Given the description of an element on the screen output the (x, y) to click on. 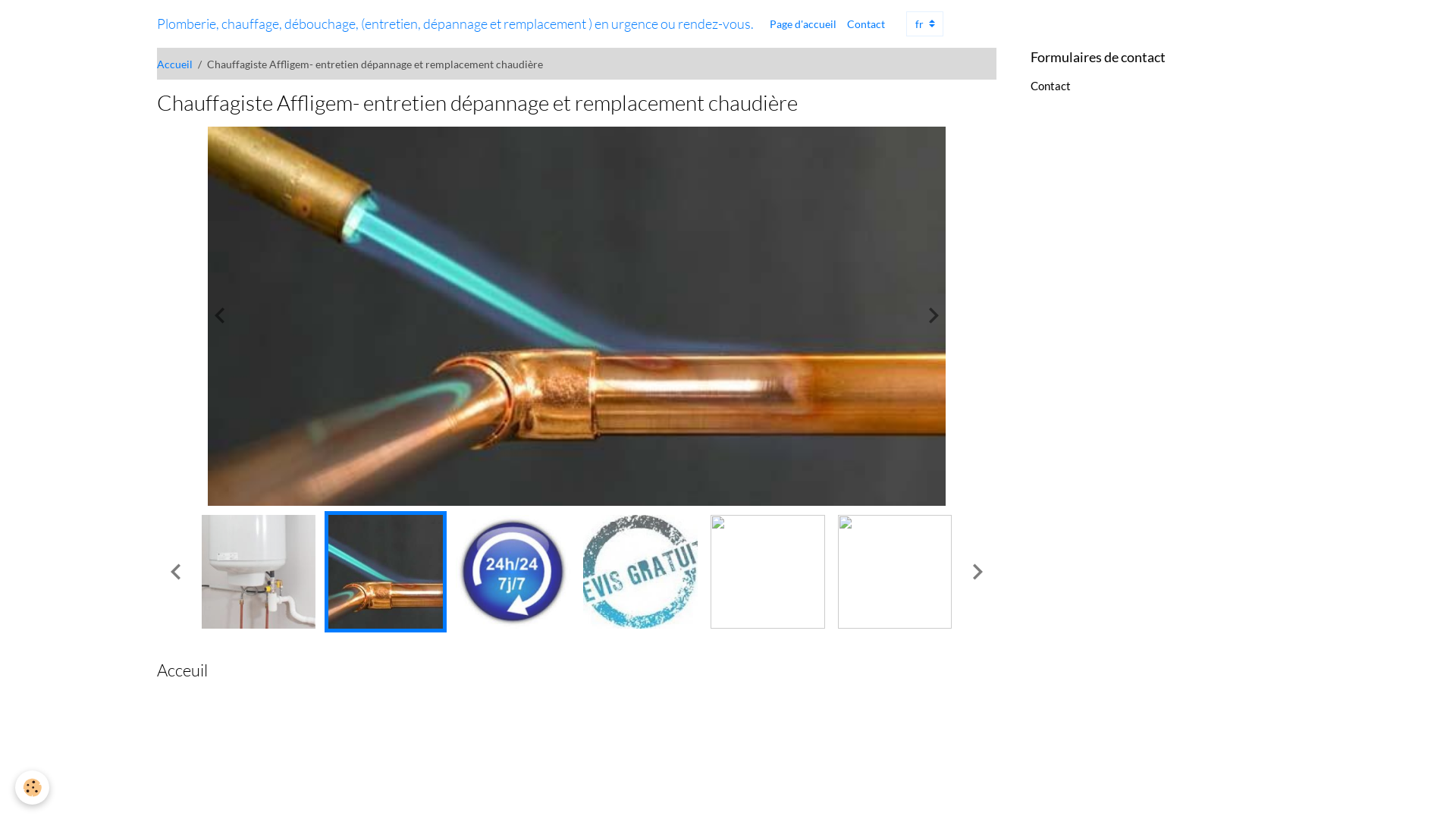
Contact Element type: text (1050, 85)
Page d'accueil Element type: text (802, 23)
Accueil Element type: text (174, 63)
Contact Element type: text (865, 23)
